Given the description of an element on the screen output the (x, y) to click on. 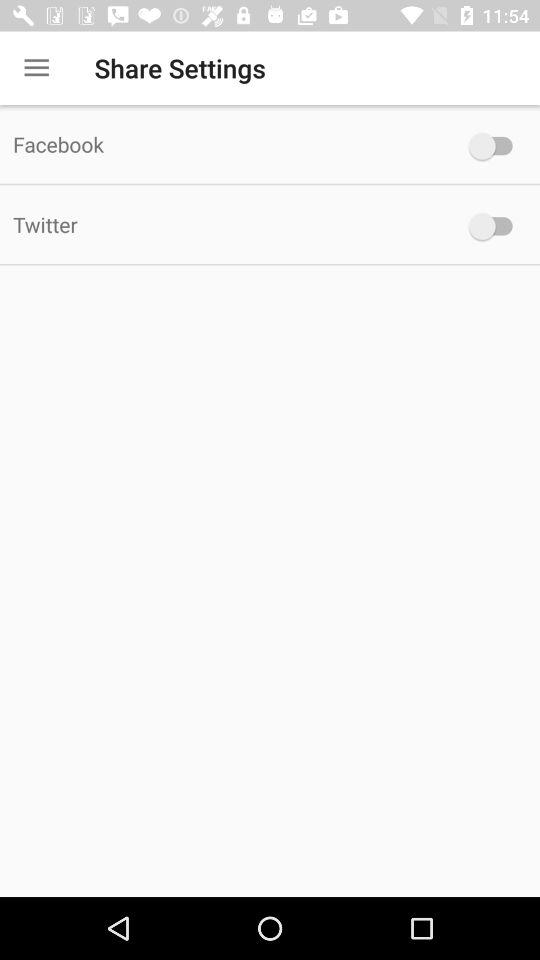
open the icon below facebook (225, 224)
